Given the description of an element on the screen output the (x, y) to click on. 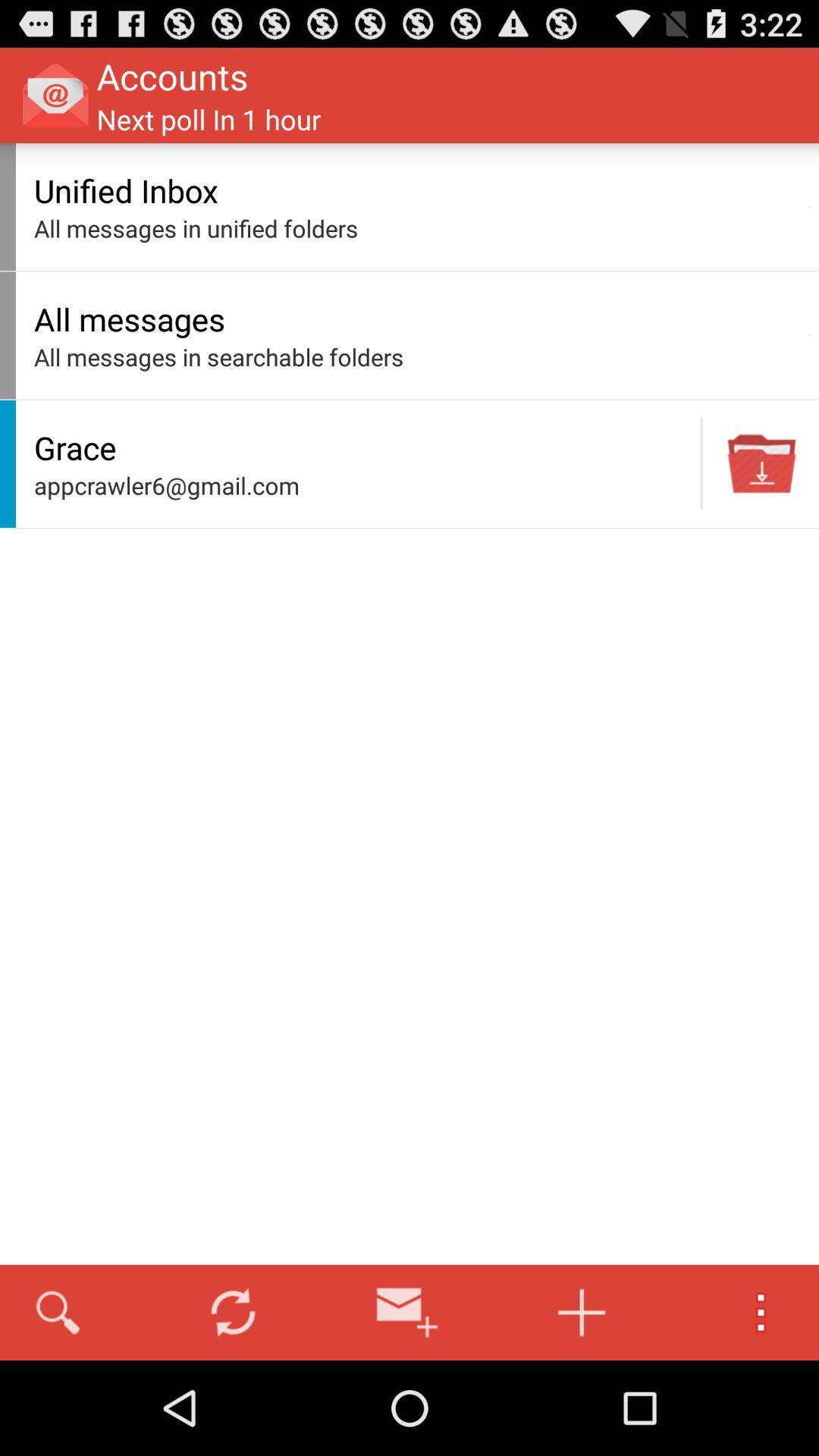
launch item at the center (363, 485)
